Given the description of an element on the screen output the (x, y) to click on. 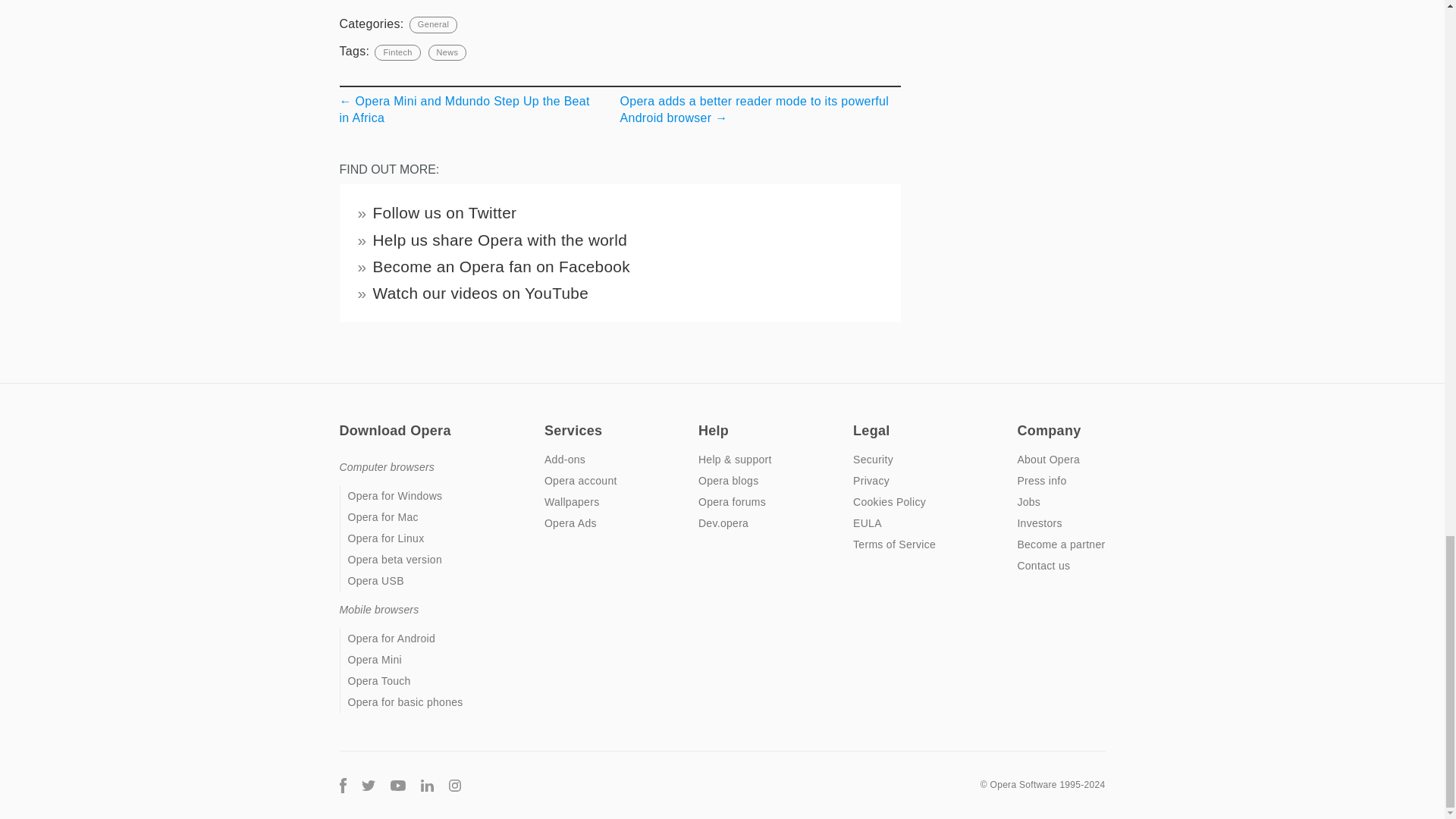
Opera - LinkedIn (426, 784)
Opera - Youtube (396, 784)
General (433, 24)
Opera - Twitter (367, 784)
Opera - Instagram (454, 784)
Follow us on Twitter (444, 212)
Opera - Facebook (342, 784)
News (447, 52)
Become an Opera fan on Facebook (501, 266)
Help us share Opera with the world (499, 239)
Fintech (397, 52)
Watch our videos on YouTube (480, 293)
